Given the description of an element on the screen output the (x, y) to click on. 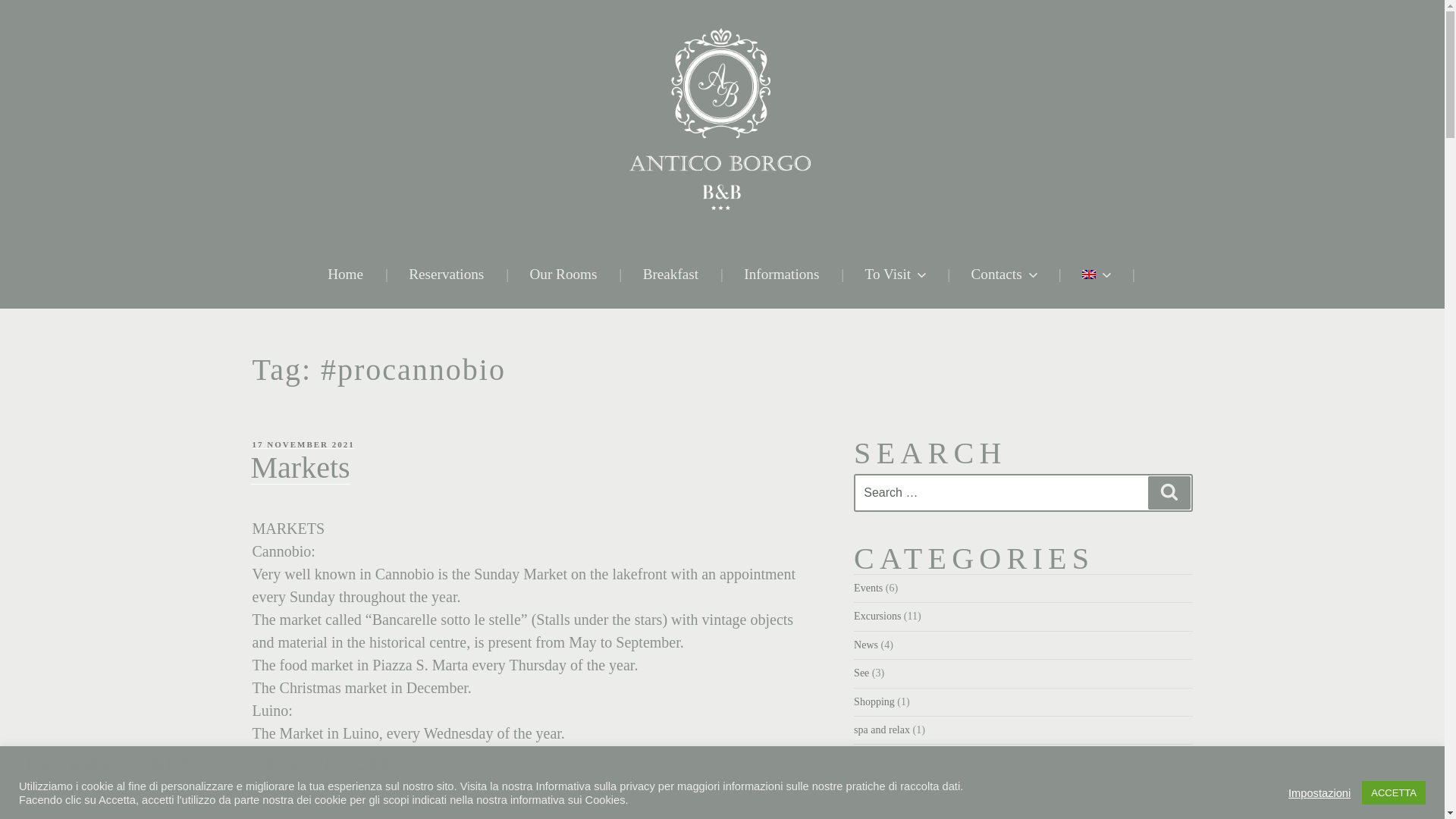
17 NOVEMBER 2021 (302, 443)
English (1088, 274)
Excursions (877, 615)
Contacts (1006, 274)
Search (1169, 492)
See (861, 672)
Home (348, 274)
To Visit (898, 274)
Shopping (874, 701)
Our Rooms (566, 274)
Informations (784, 274)
News (865, 644)
Markets (299, 467)
Reservations (449, 274)
